Given the description of an element on the screen output the (x, y) to click on. 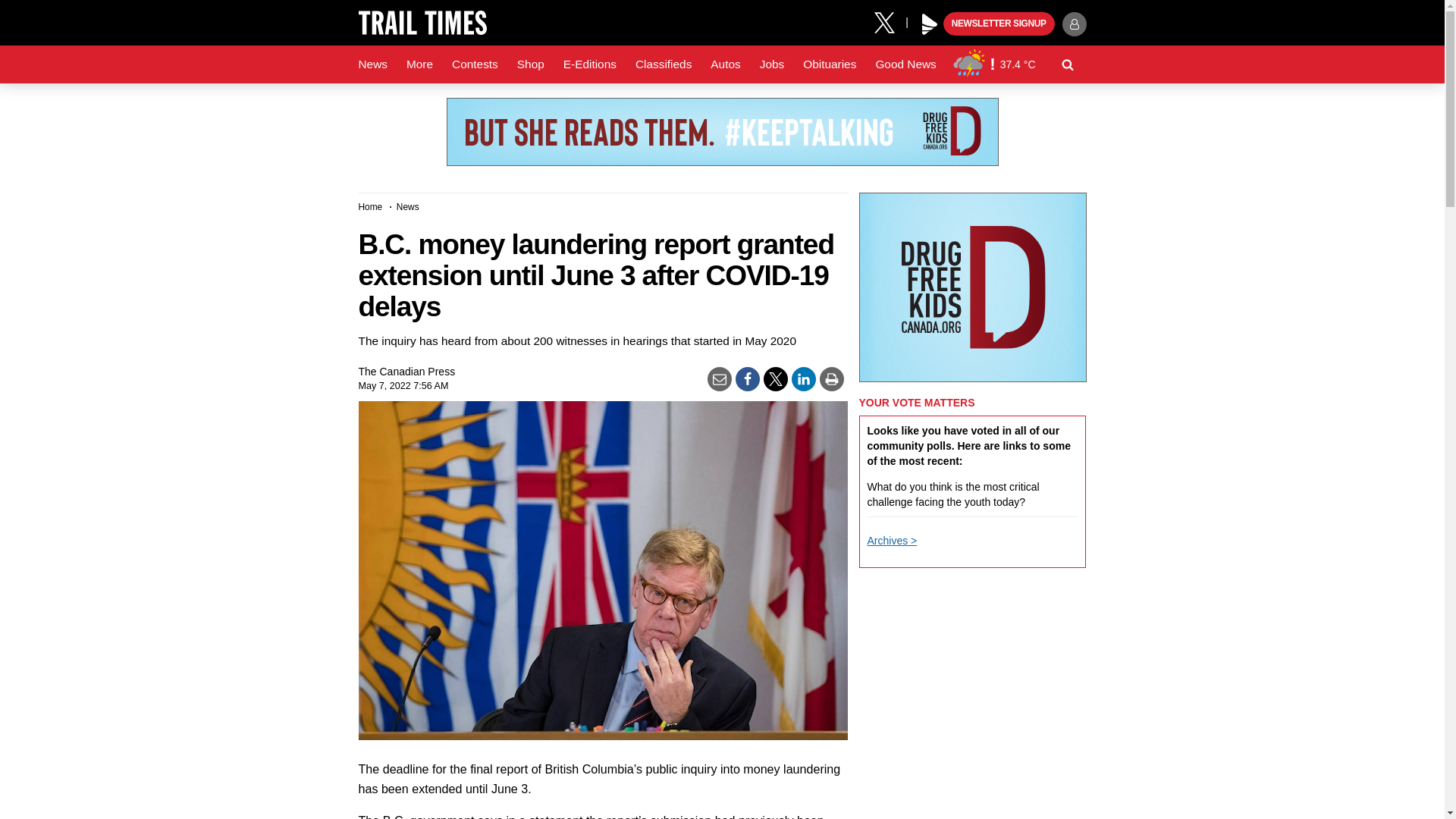
News (372, 64)
NEWSLETTER SIGNUP (998, 24)
Play (929, 24)
X (889, 21)
Black Press Media (929, 24)
3rd party ad content (721, 131)
